Given the description of an element on the screen output the (x, y) to click on. 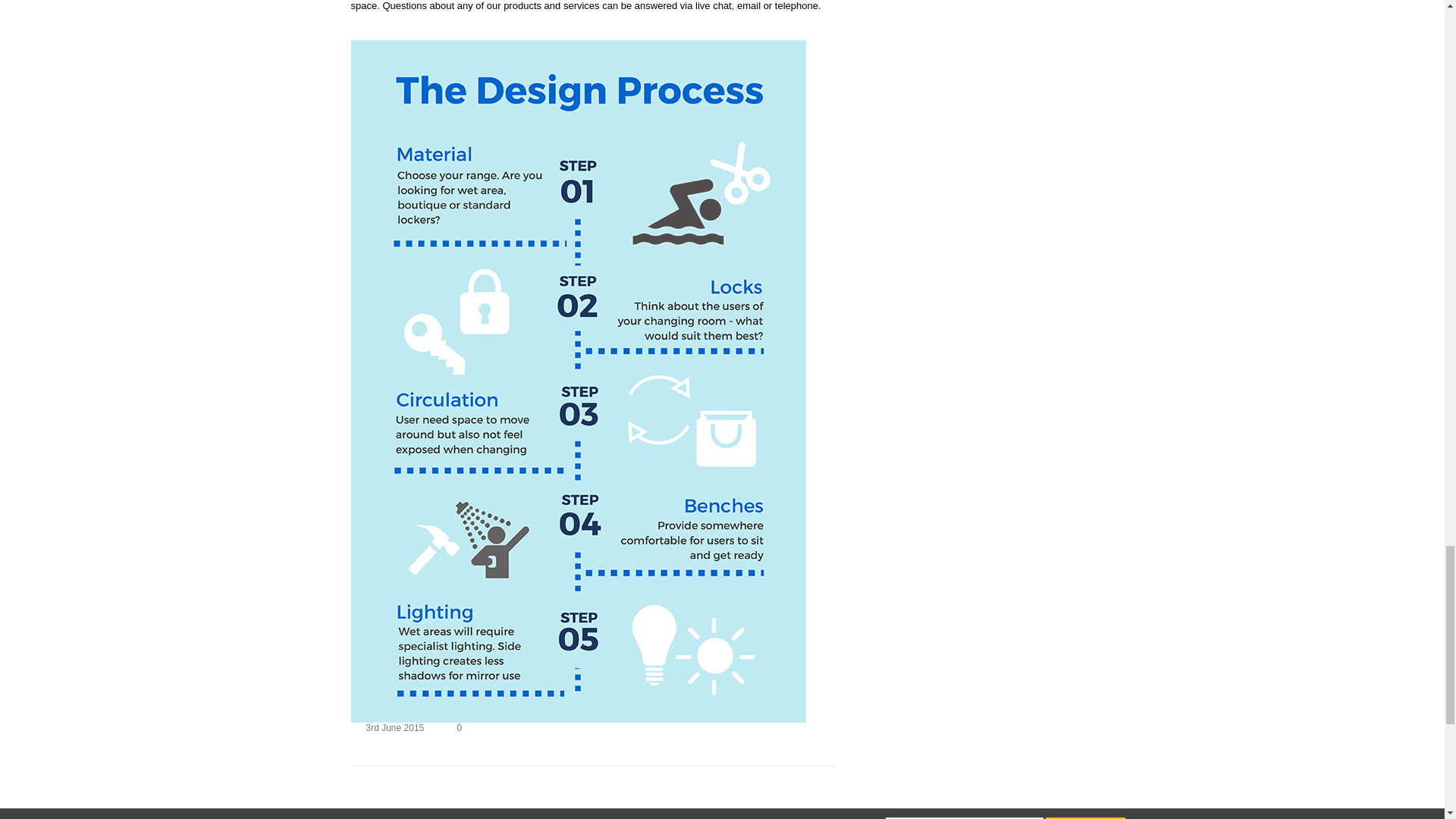
3rd June 2015 (394, 727)
Subscribe (1085, 818)
